Given the description of an element on the screen output the (x, y) to click on. 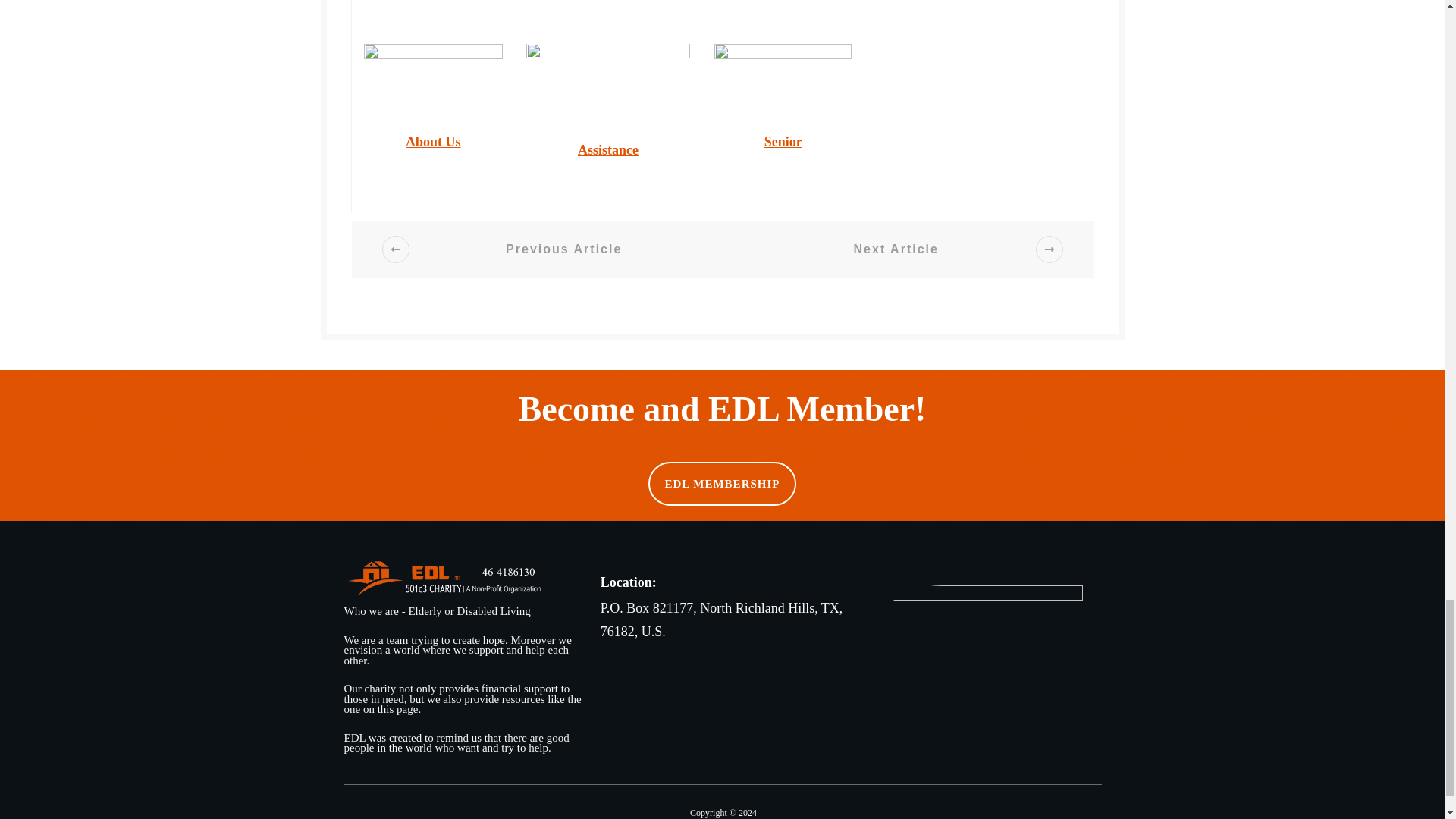
Senior (783, 141)
EDL MEMBERSHIP (721, 483)
Previous Article (545, 249)
Next Article (915, 249)
Assistance (608, 150)
About Us (433, 141)
